Given the description of an element on the screen output the (x, y) to click on. 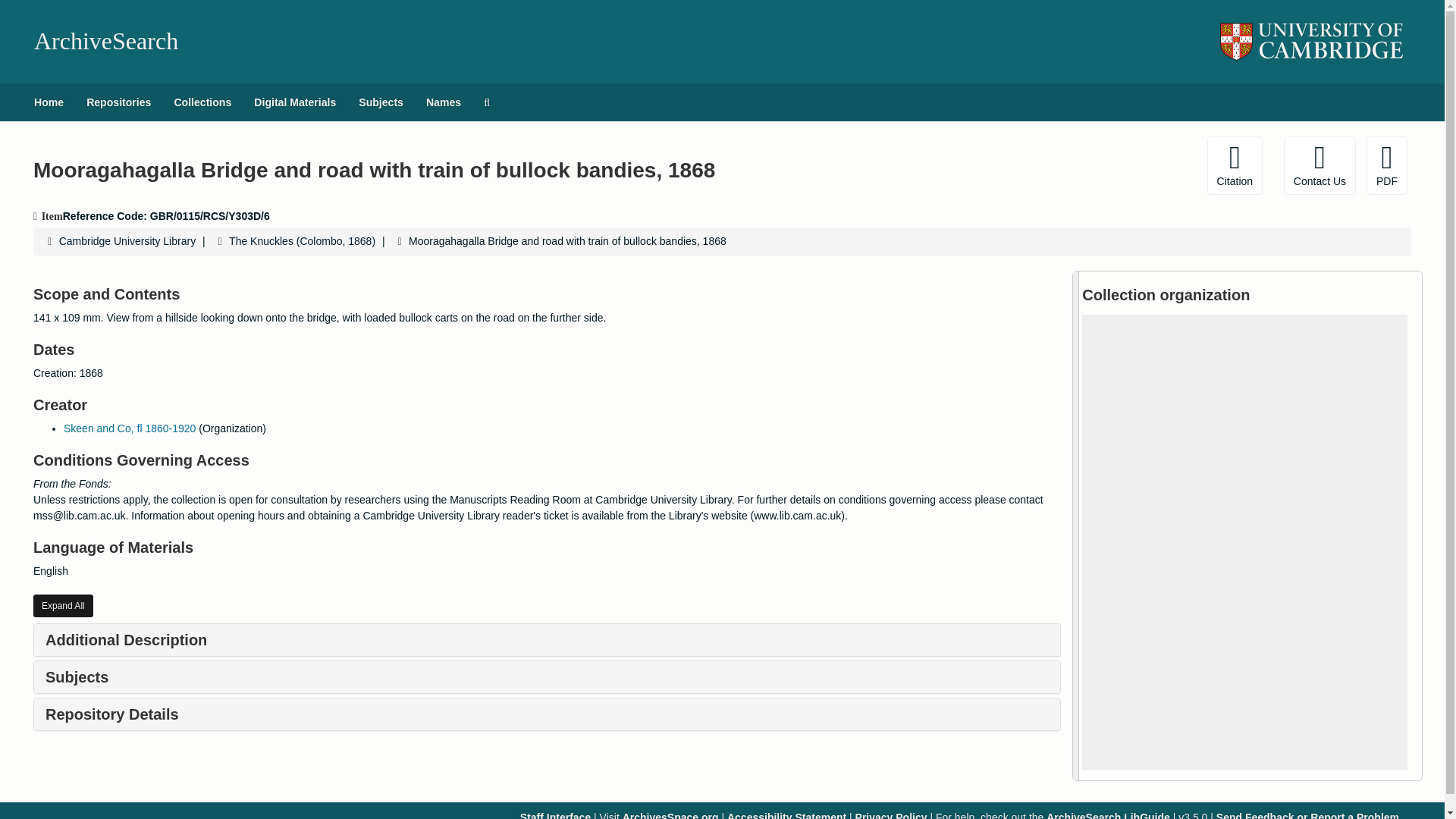
Page Actions (1130, 165)
Citation (1234, 165)
Skeen and Co, fl 1860-1920 (129, 428)
Return to the ArchiveSearch homepage (105, 40)
ArchivesSpace.org (671, 815)
ArchiveSearch (105, 40)
Expand All (63, 605)
Subjects (380, 102)
Contact Us (1319, 165)
Accessibility Statement (785, 815)
